Given the description of an element on the screen output the (x, y) to click on. 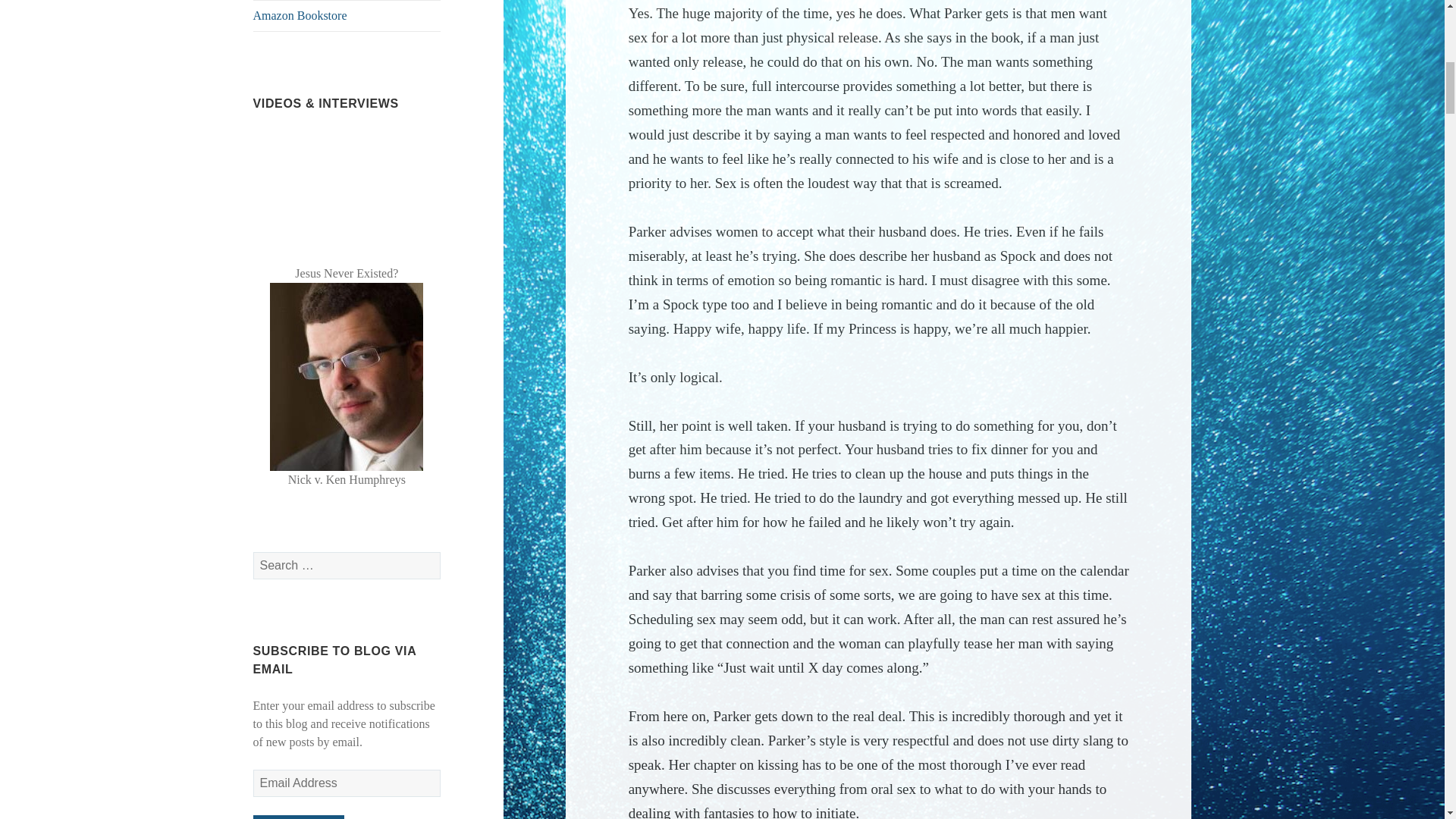
Amazon Bookstore (347, 15)
SUBSCRIBE (299, 816)
